Given the description of an element on the screen output the (x, y) to click on. 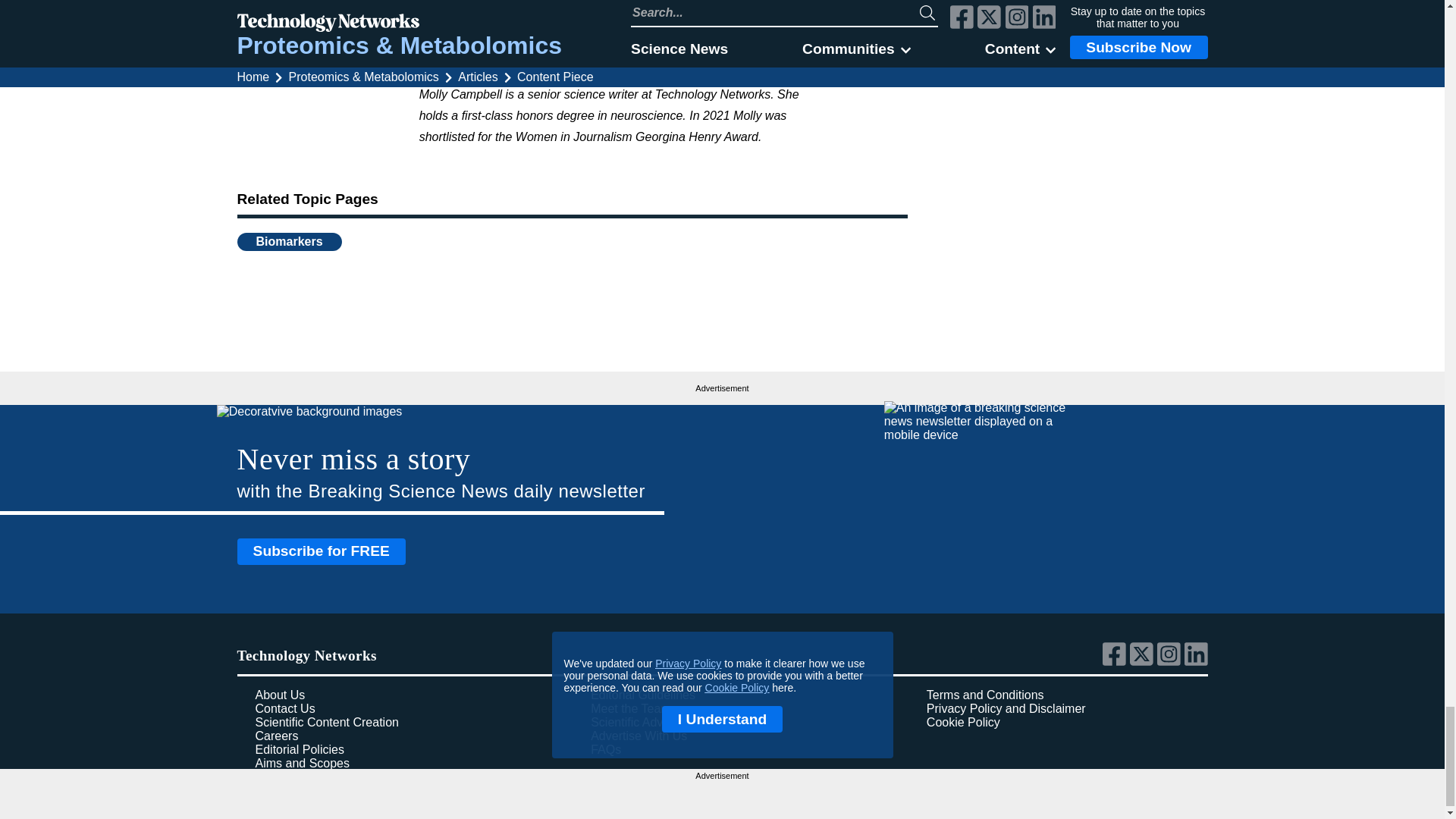
Link to Technology Networks' instagram page (1171, 662)
Link to Technology Networks' twitter page (1143, 662)
Link to Technology Networks' facebook page (1115, 662)
Link to Technology Networks' linkedin page (1196, 662)
